Given the description of an element on the screen output the (x, y) to click on. 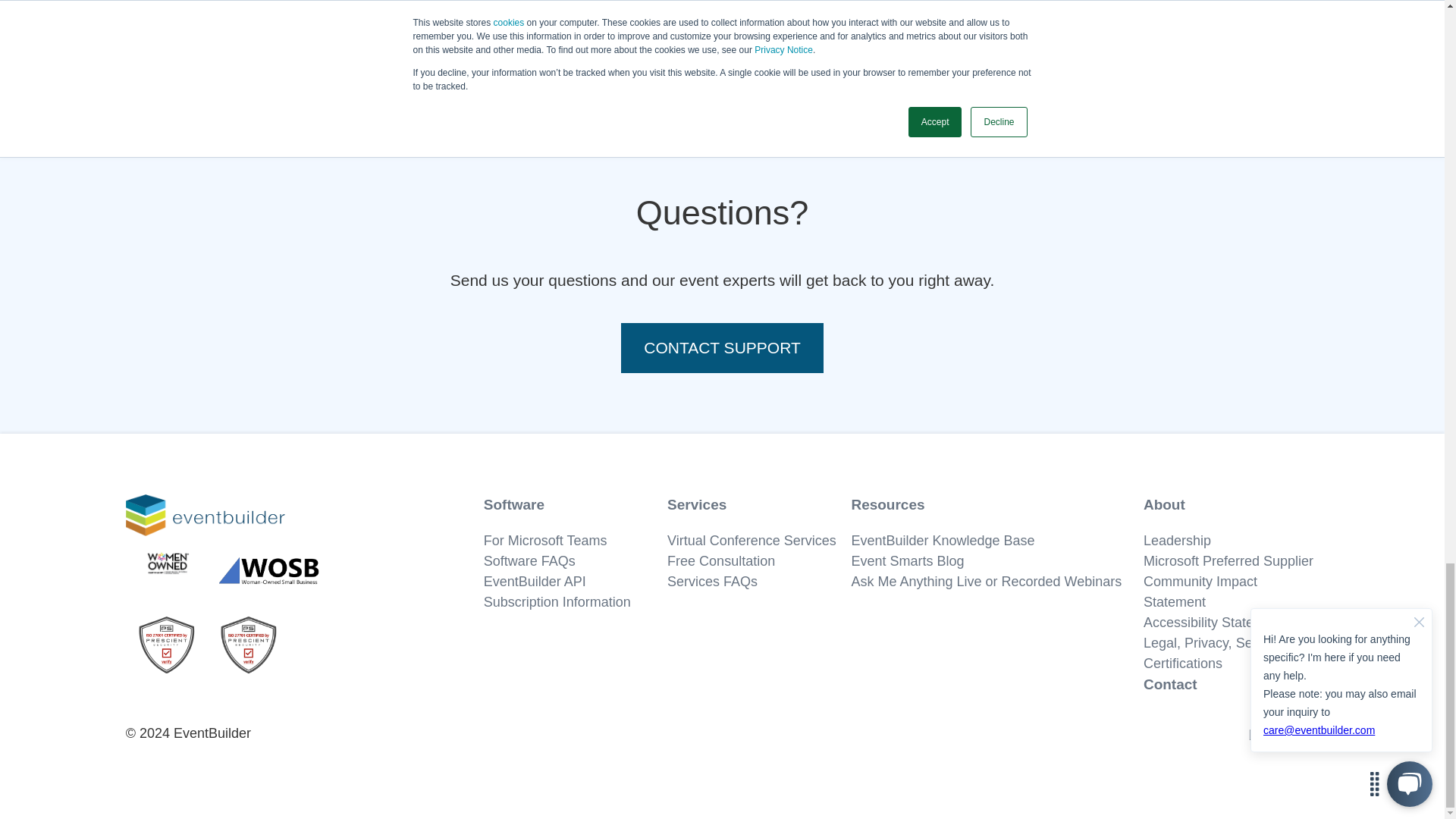
Contact Support (722, 347)
Add Power BI Connector (488, 15)
Add Closed Captioning (954, 18)
